Given the description of an element on the screen output the (x, y) to click on. 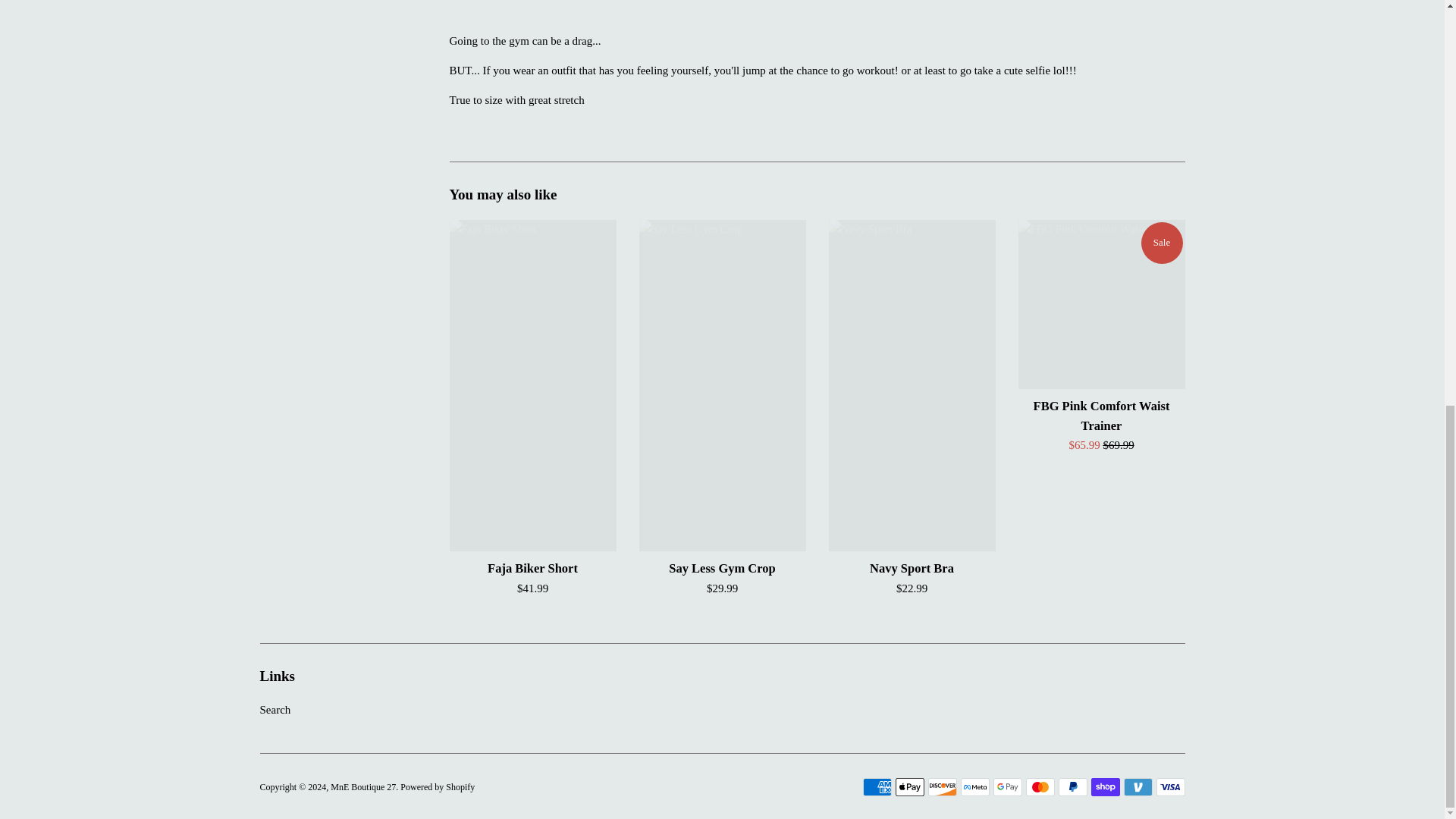
Venmo (1138, 787)
FBG Pink Comfort Waist Trainer (1101, 415)
Visa (1170, 787)
American Express (877, 787)
Navy Sport Bra (911, 568)
Google Pay (1007, 787)
Powered by Shopify (437, 787)
Apple Pay (909, 787)
Mastercard (1039, 787)
Search (274, 709)
